Given the description of an element on the screen output the (x, y) to click on. 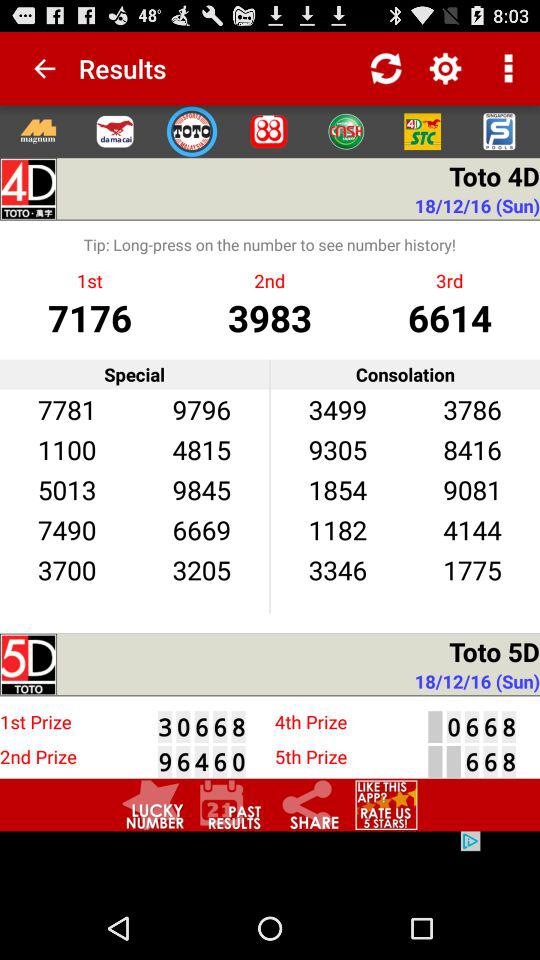
choose item above the 1775 item (472, 529)
